Given the description of an element on the screen output the (x, y) to click on. 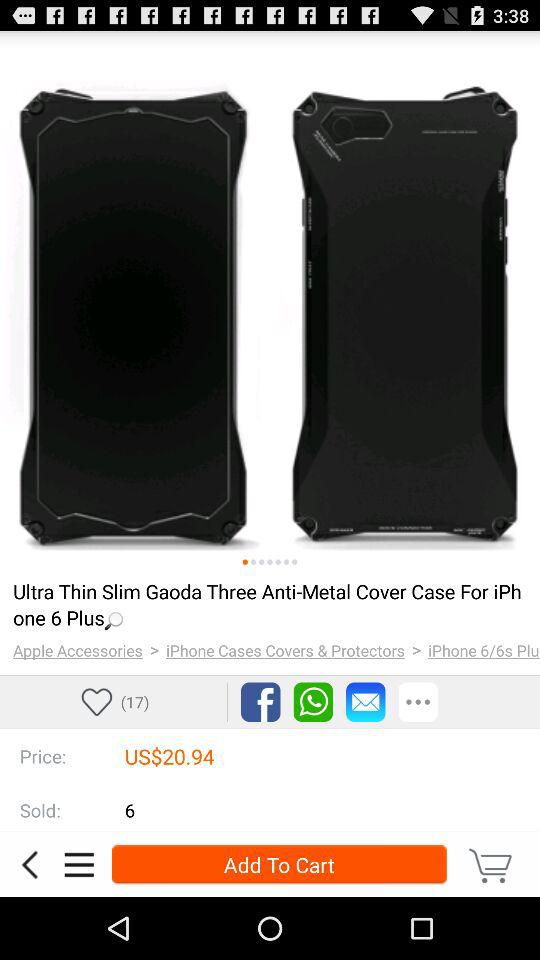
press iphone 6 6s app (484, 650)
